Given the description of an element on the screen output the (x, y) to click on. 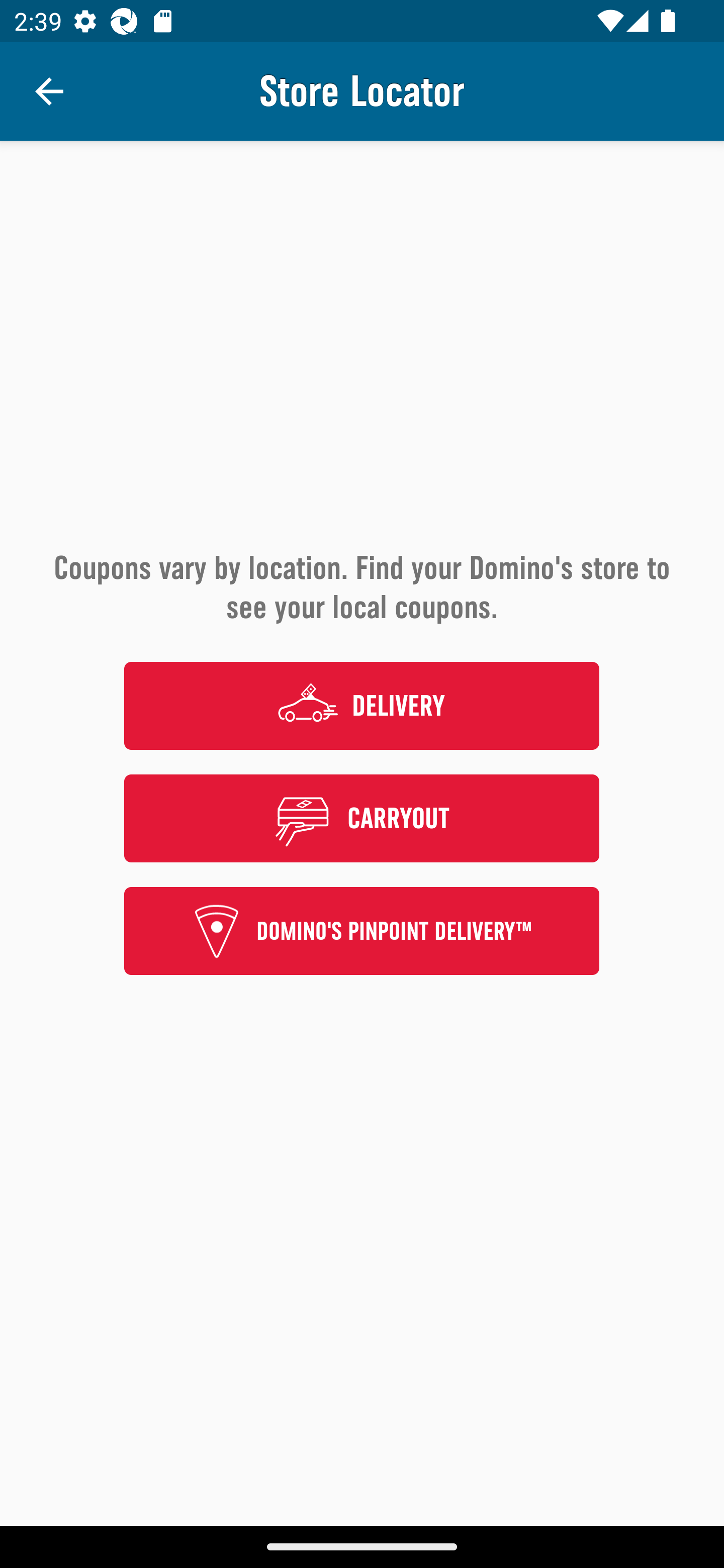
BACK (49, 91)
DELIVERY (361, 705)
CARRYOUT (361, 818)
DOMINO'S PINPOINT DELIVERY™ (361, 931)
